Given the description of an element on the screen output the (x, y) to click on. 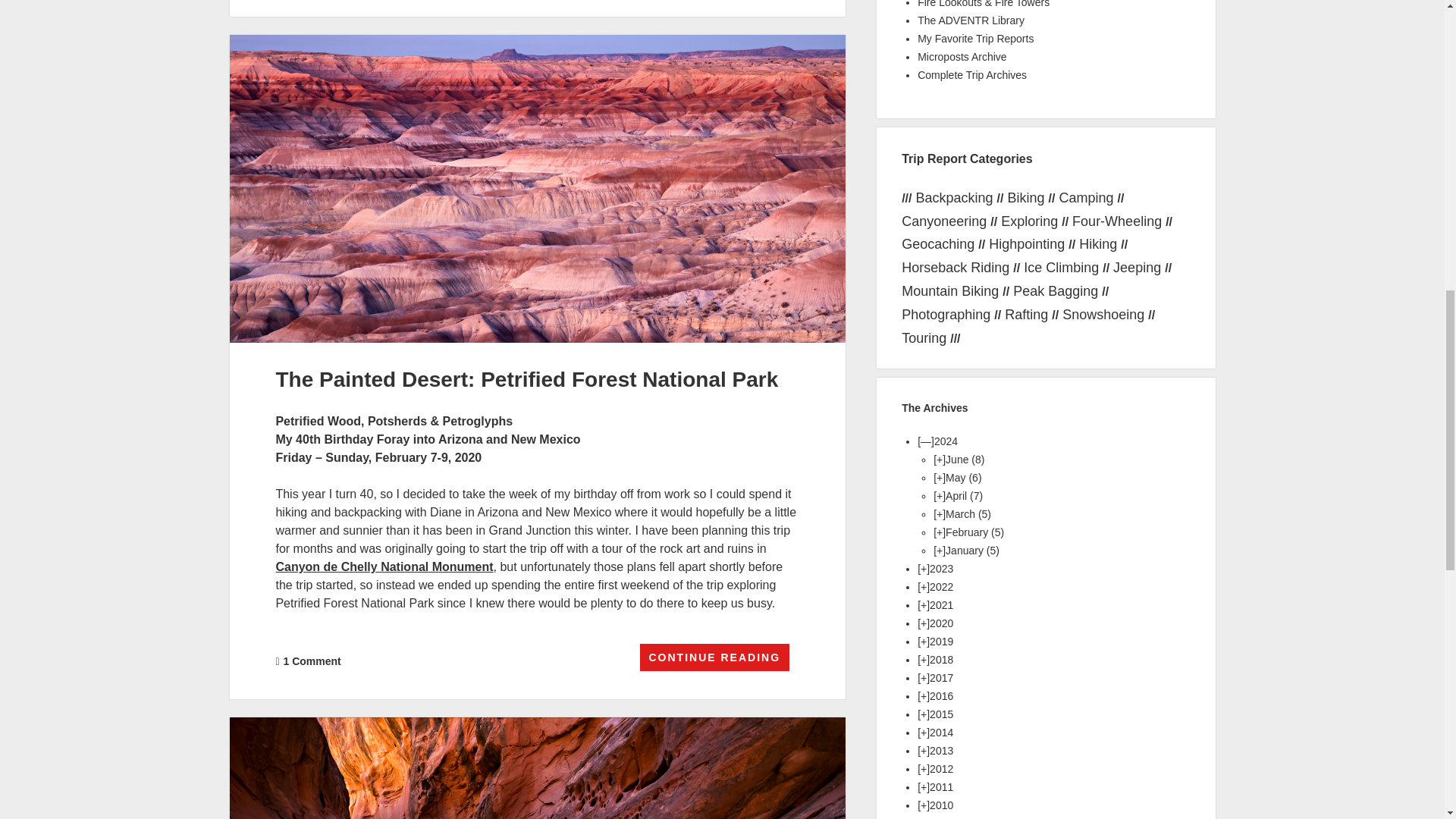
comment icon (277, 661)
